Given the description of an element on the screen output the (x, y) to click on. 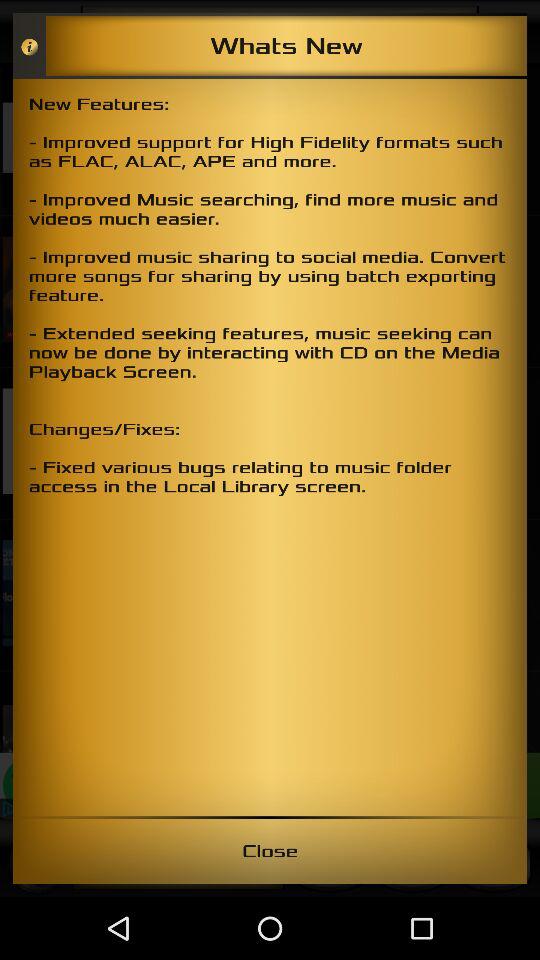
select new features improved at the center (269, 447)
